Given the description of an element on the screen output the (x, y) to click on. 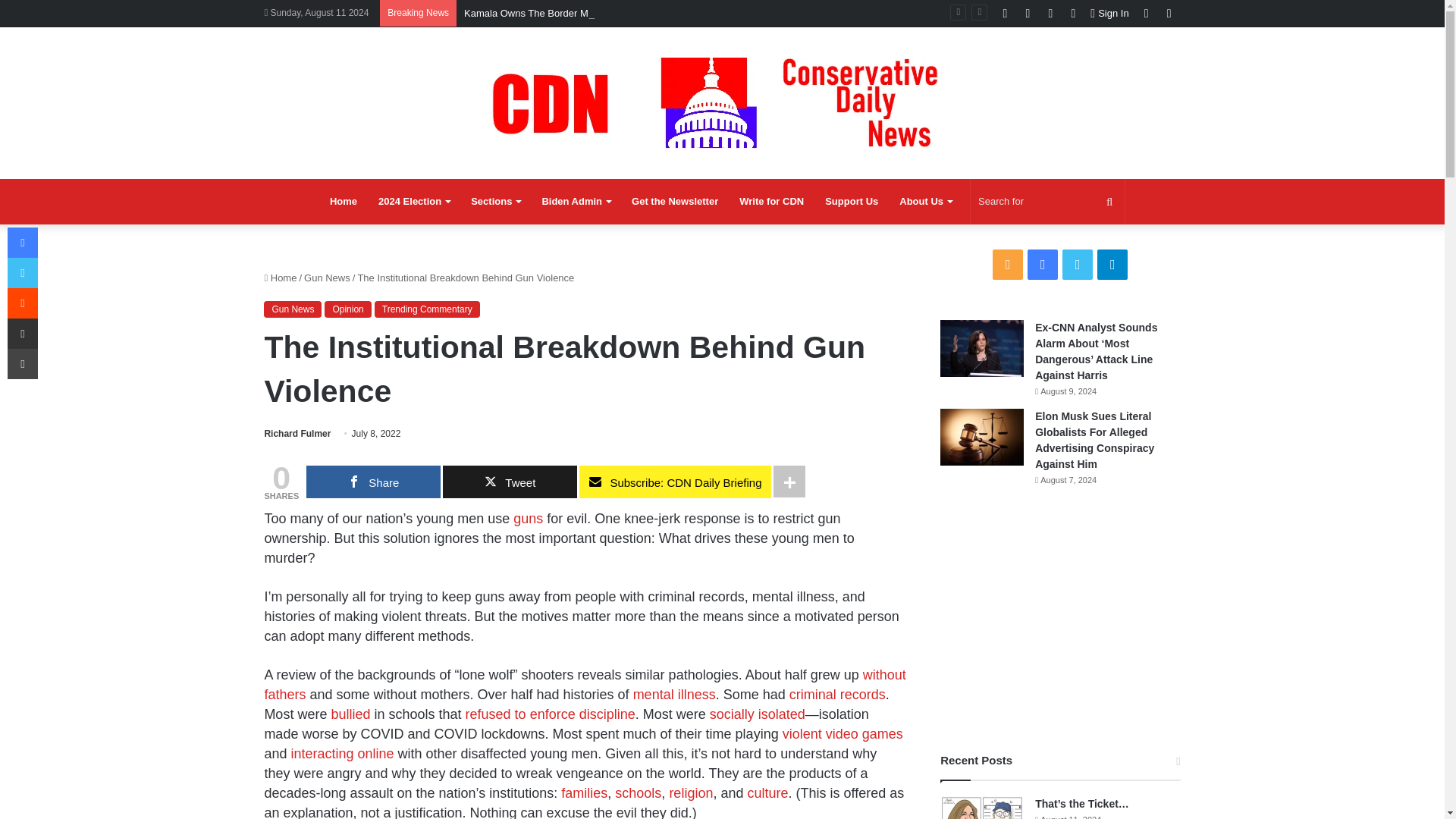
2024 Election (414, 201)
Home (343, 201)
Support CDN With a Small Donation (850, 201)
About Us (925, 201)
Kamala Owns The Border Mess (534, 12)
Get the Newsletter (675, 201)
Write for CDN (771, 201)
Richard Fulmer (296, 433)
Support Us (850, 201)
Conservative Daily News (721, 102)
